Given the description of an element on the screen output the (x, y) to click on. 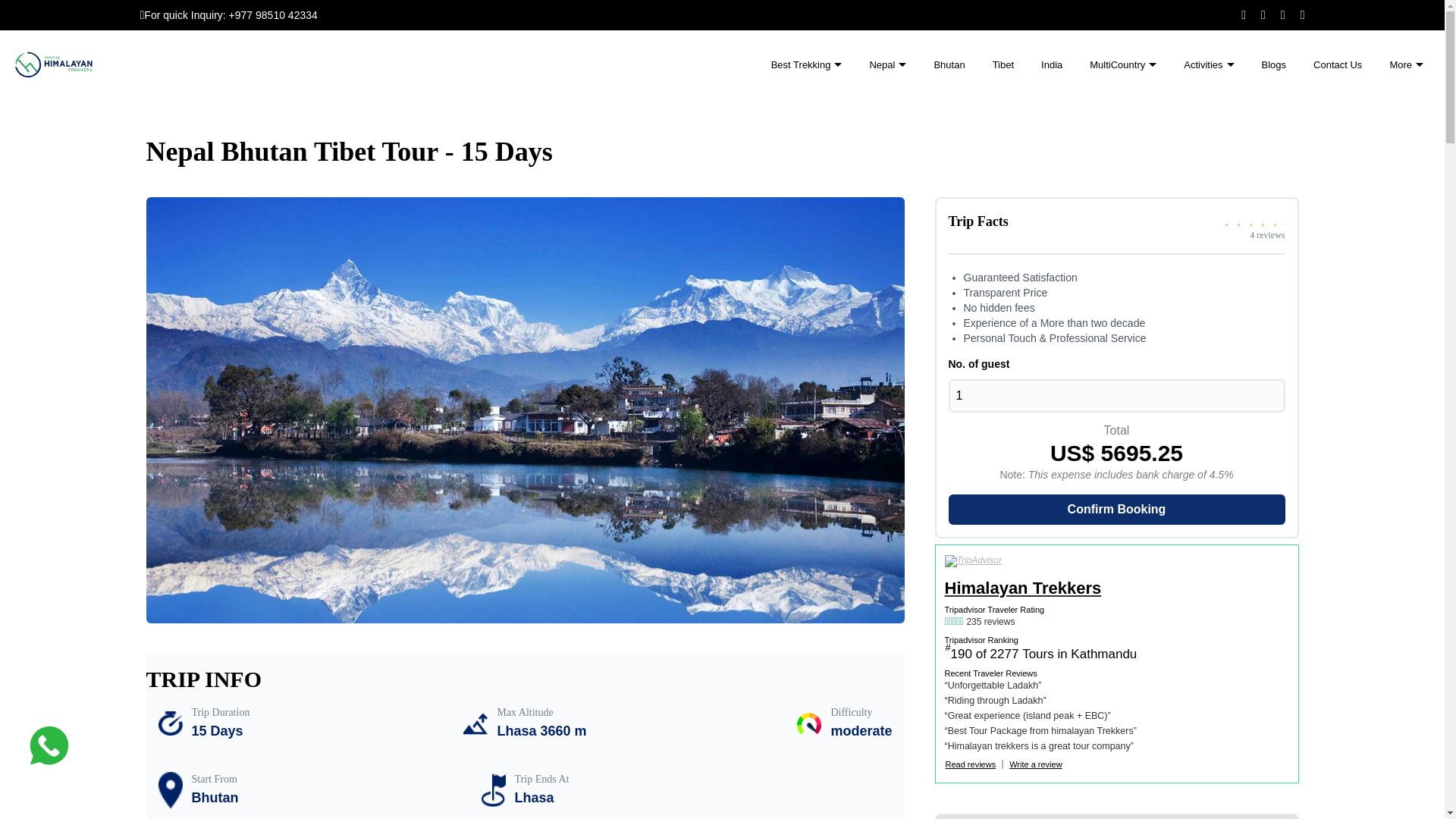
Best Trekking (806, 65)
Nepal (887, 65)
Back to index (1337, 65)
Message us on Whatsapp (49, 746)
Activities (1208, 65)
MultiCountry (1122, 65)
Back to index (949, 65)
Back to index (1273, 65)
Bhutan (949, 65)
1 (1115, 395)
